Given the description of an element on the screen output the (x, y) to click on. 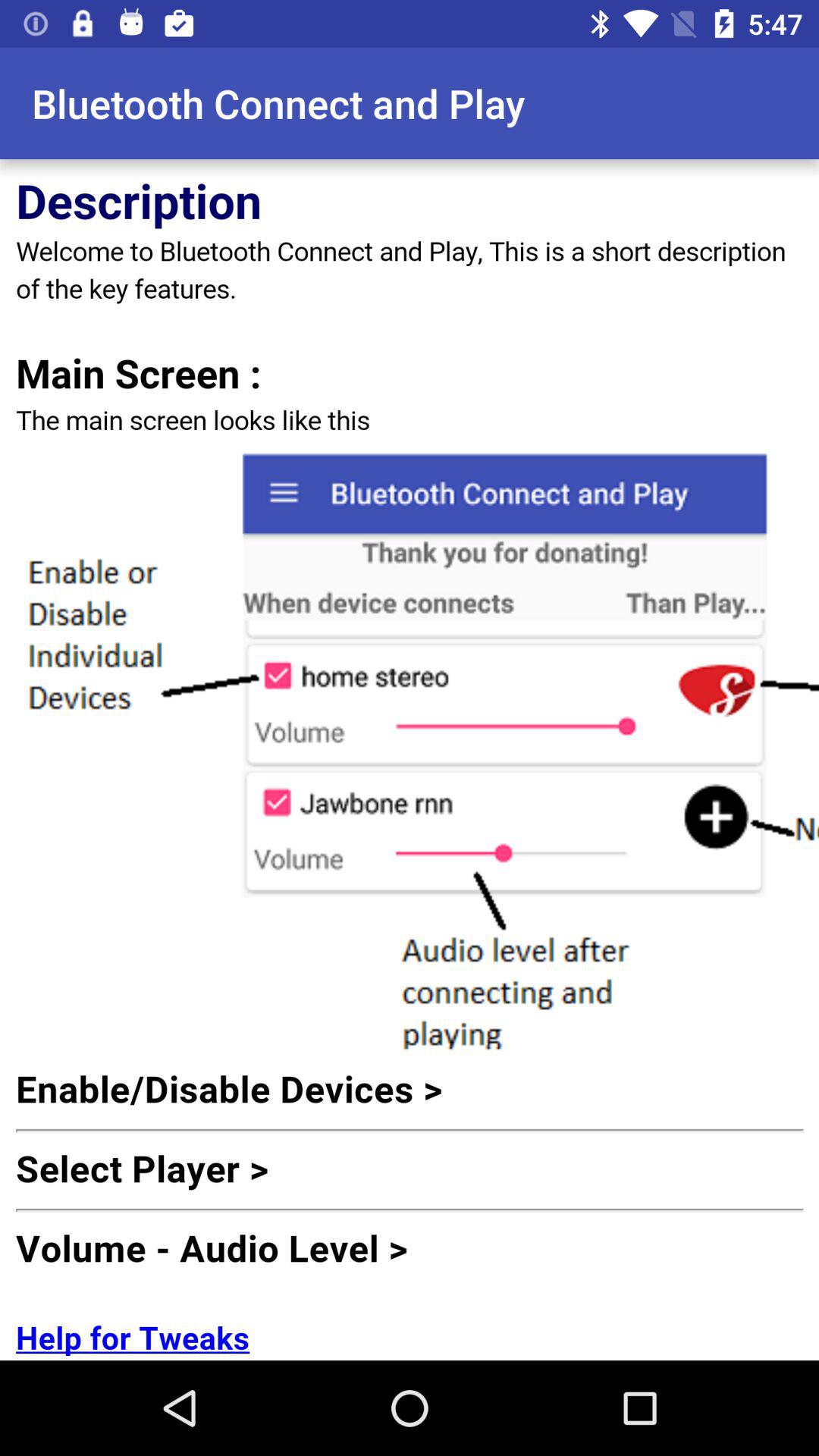
description (409, 759)
